Given the description of an element on the screen output the (x, y) to click on. 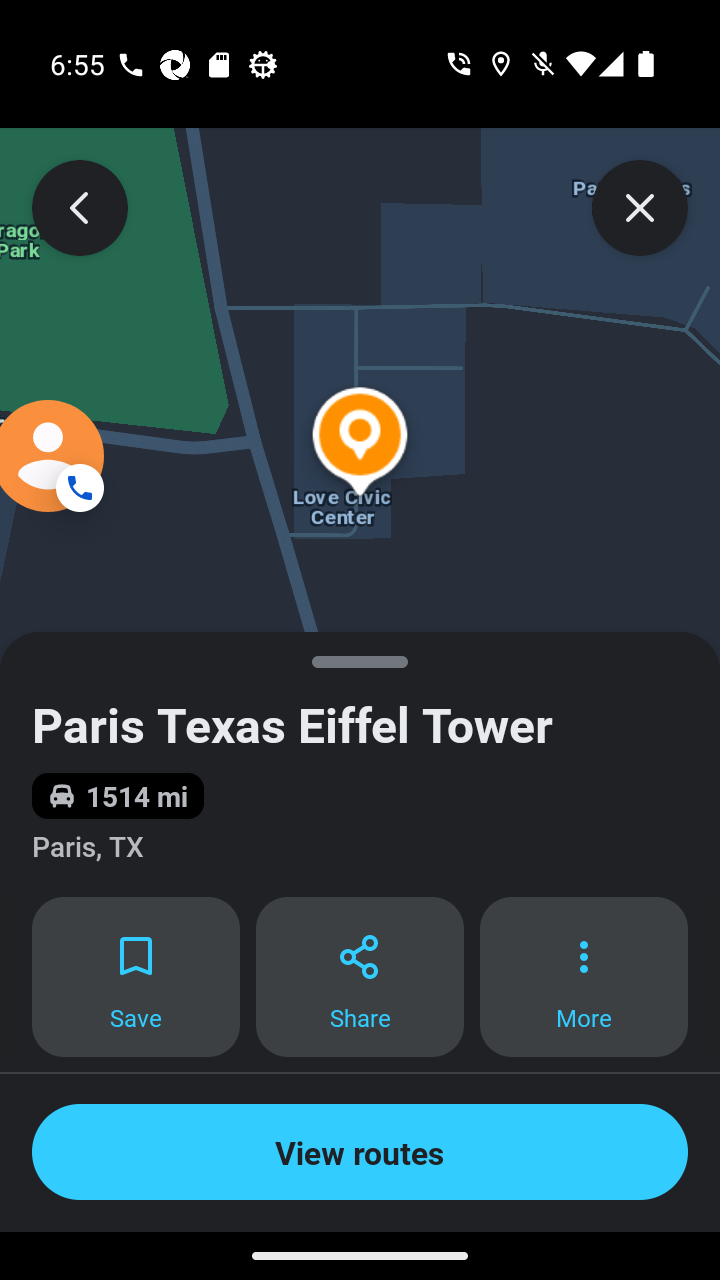
Paris Texas Eiffel Tower 1514 mi Paris, TX (360, 764)
Save (135, 977)
Share (359, 977)
More (584, 977)
View routes (359, 1151)
